Given the description of an element on the screen output the (x, y) to click on. 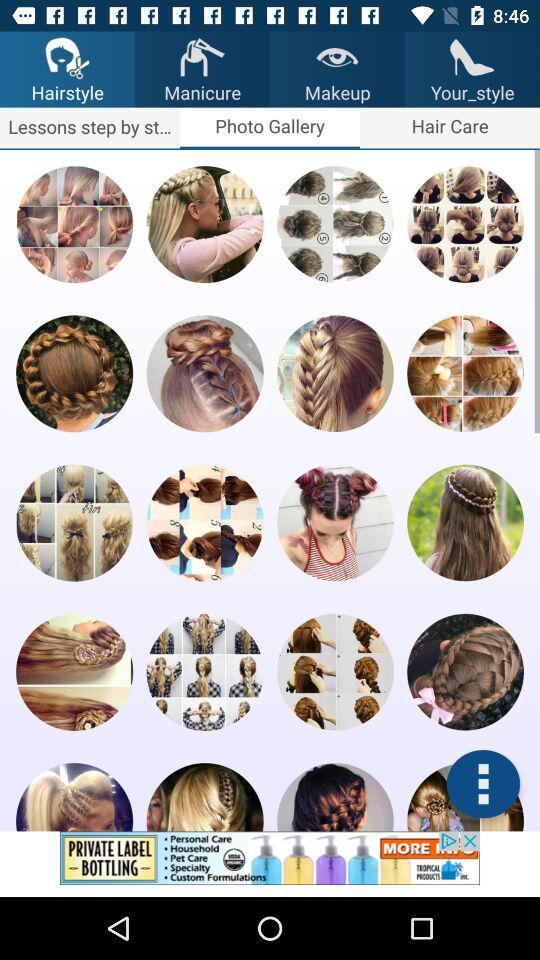
go to addverdisment (270, 864)
